Given the description of an element on the screen output the (x, y) to click on. 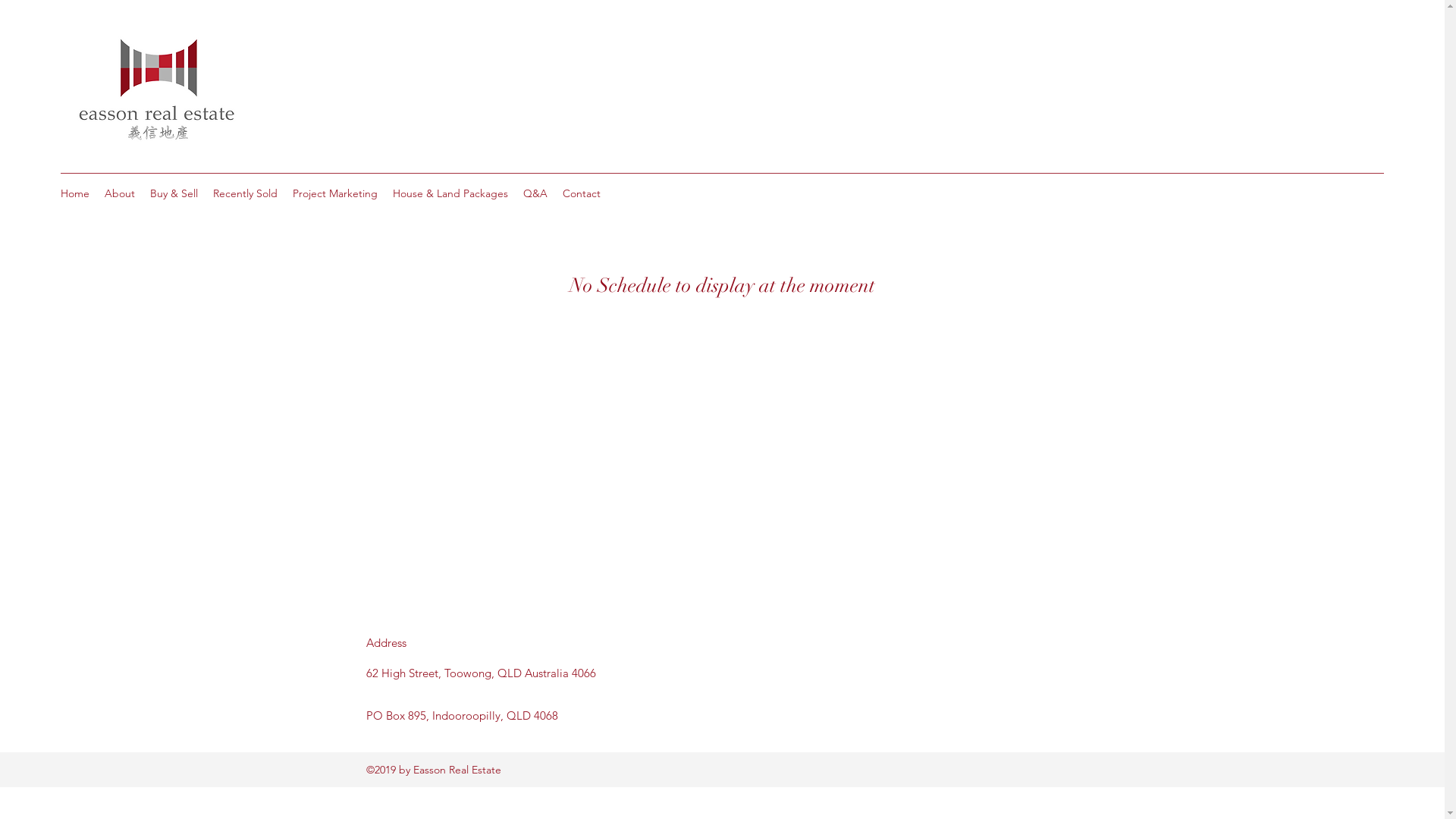
About Element type: text (119, 193)
Recently Sold Element type: text (245, 193)
Q&A Element type: text (535, 193)
Contact Element type: text (581, 193)
Home Element type: text (75, 193)
House & Land Packages Element type: text (450, 193)
Buy & Sell Element type: text (173, 193)
Project Marketing Element type: text (335, 193)
